Given the description of an element on the screen output the (x, y) to click on. 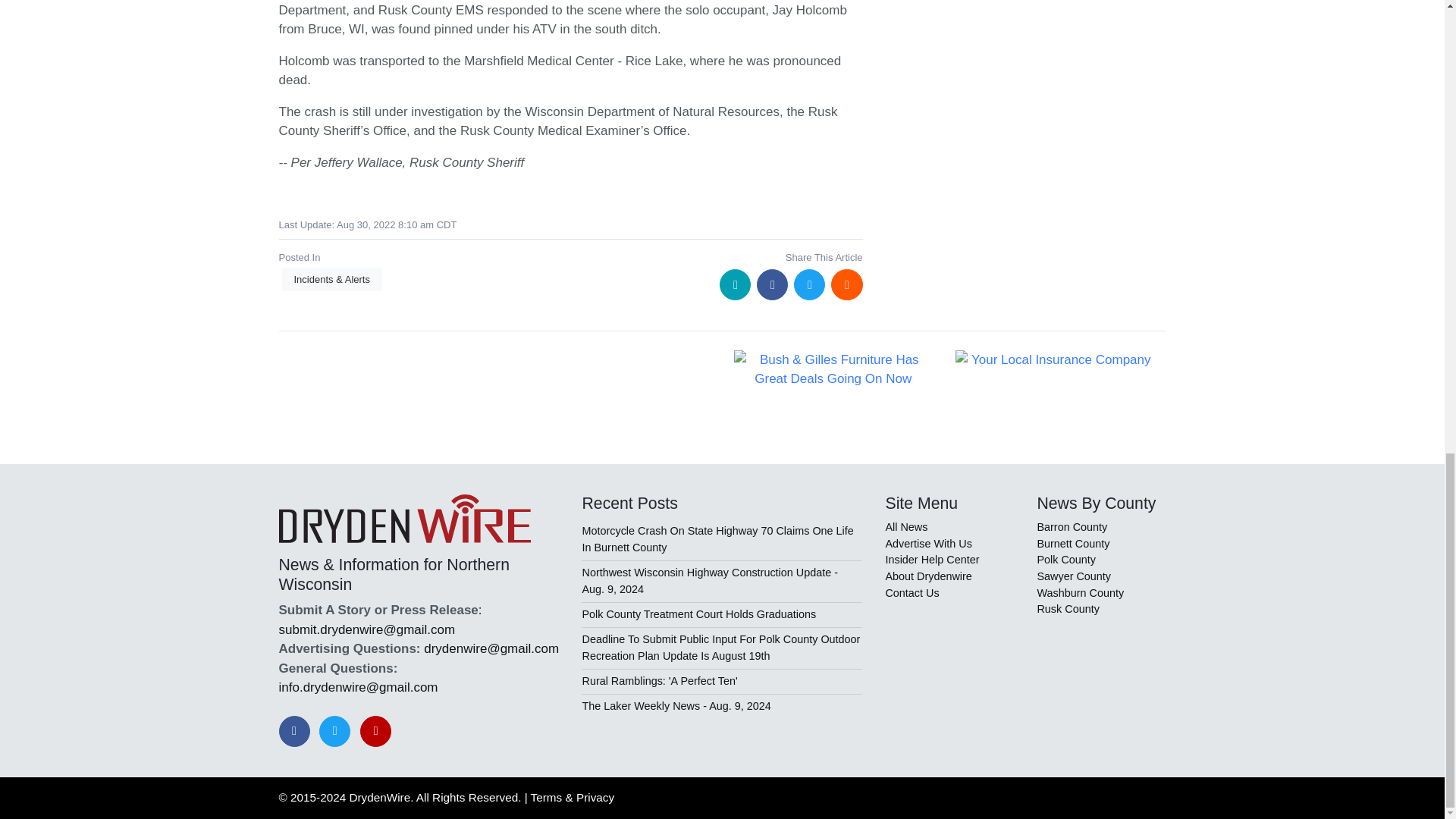
facebook (772, 284)
twitter (809, 284)
reddit (846, 284)
Your Local Insurance Company (1054, 360)
email (735, 284)
